Given the description of an element on the screen output the (x, y) to click on. 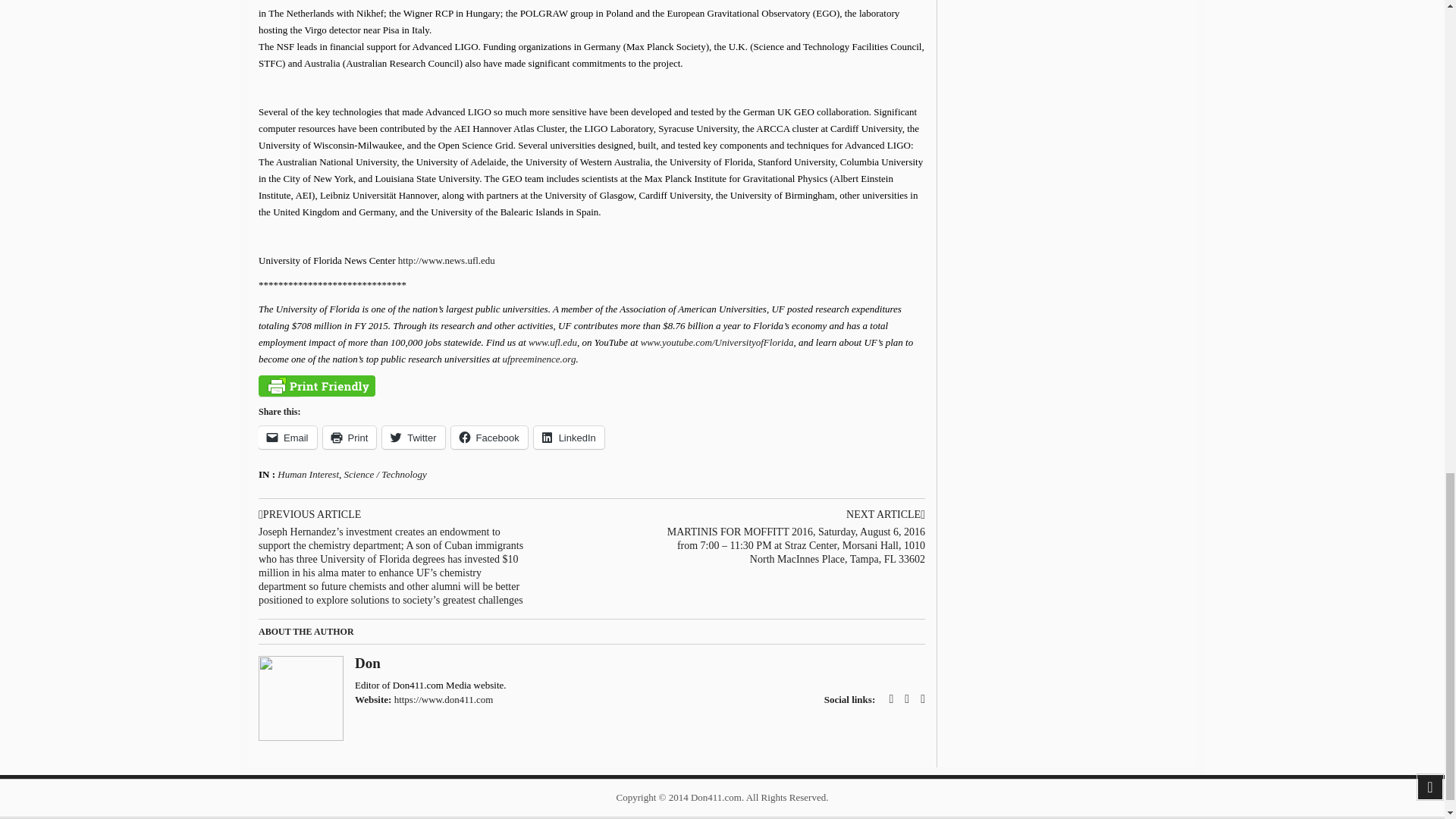
Human Interest (308, 473)
Facebook (489, 436)
ufpreeminence.org (539, 358)
LinkedIn (569, 436)
www.ufl.edu (552, 342)
Print (350, 436)
Click to share on Facebook (489, 436)
NEXT ARTICLE (791, 514)
Click to share on LinkedIn (569, 436)
Click to print (350, 436)
